Given the description of an element on the screen output the (x, y) to click on. 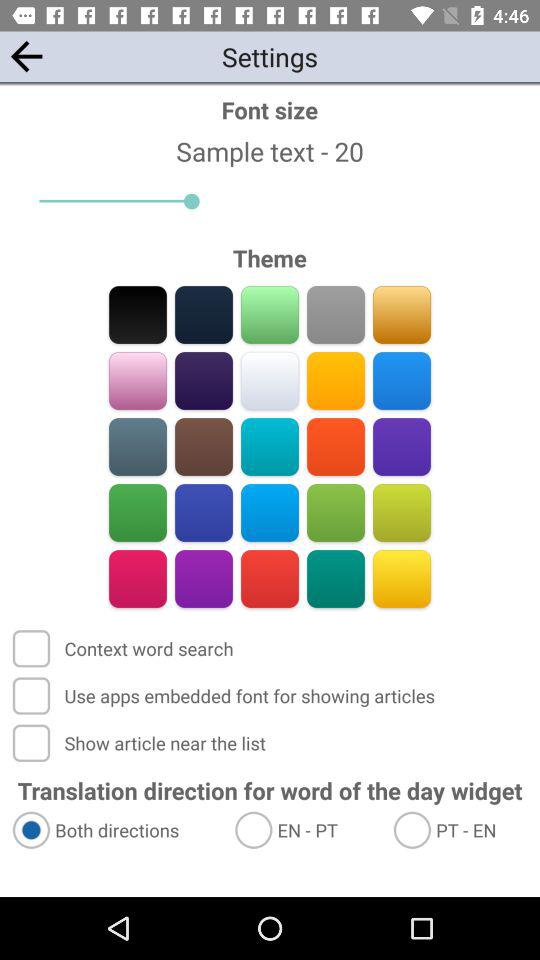
select color dark purple (203, 380)
